Given the description of an element on the screen output the (x, y) to click on. 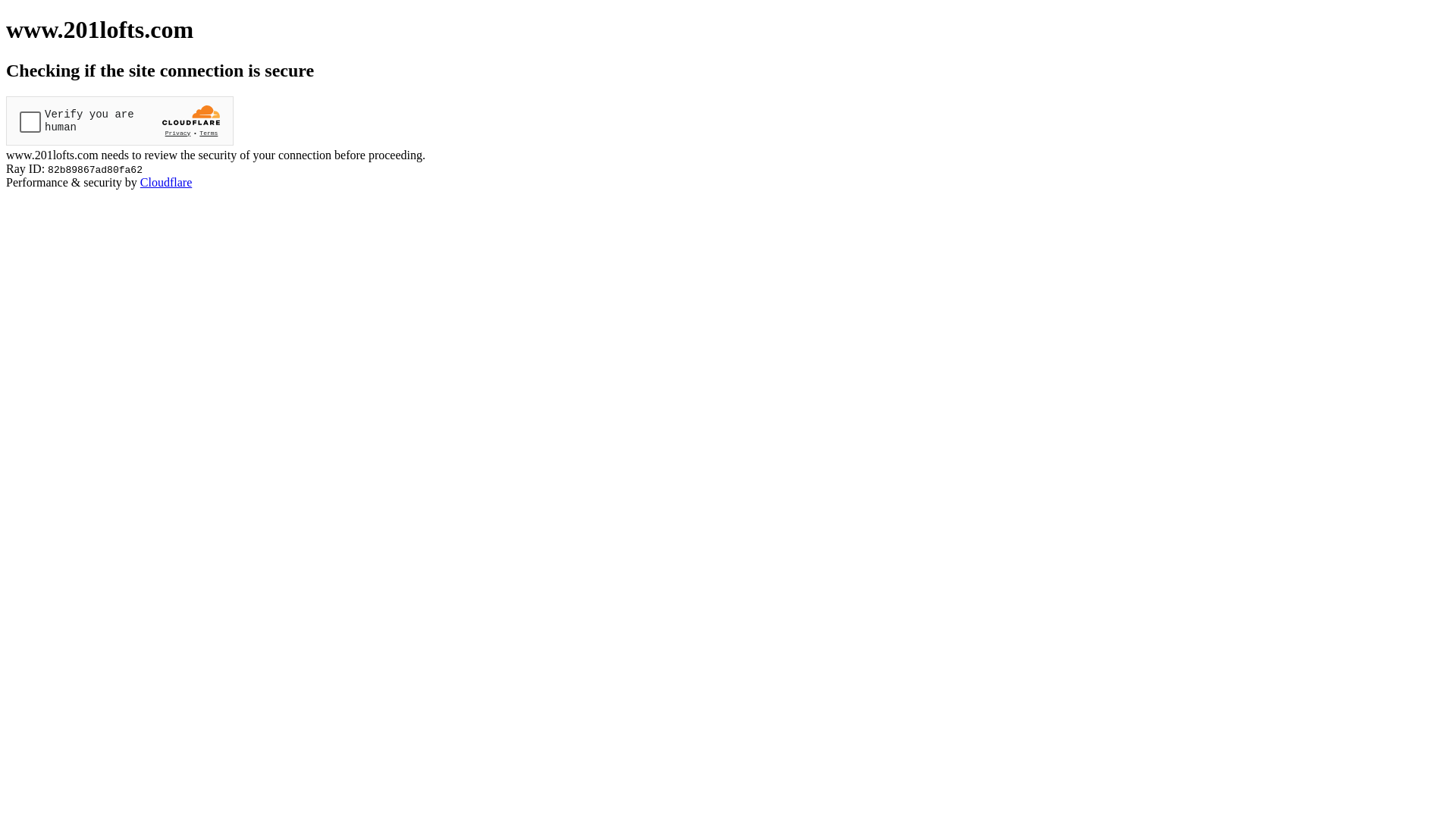
Cloudflare Element type: text (165, 181)
Widget containing a Cloudflare security challenge Element type: hover (119, 120)
